Given the description of an element on the screen output the (x, y) to click on. 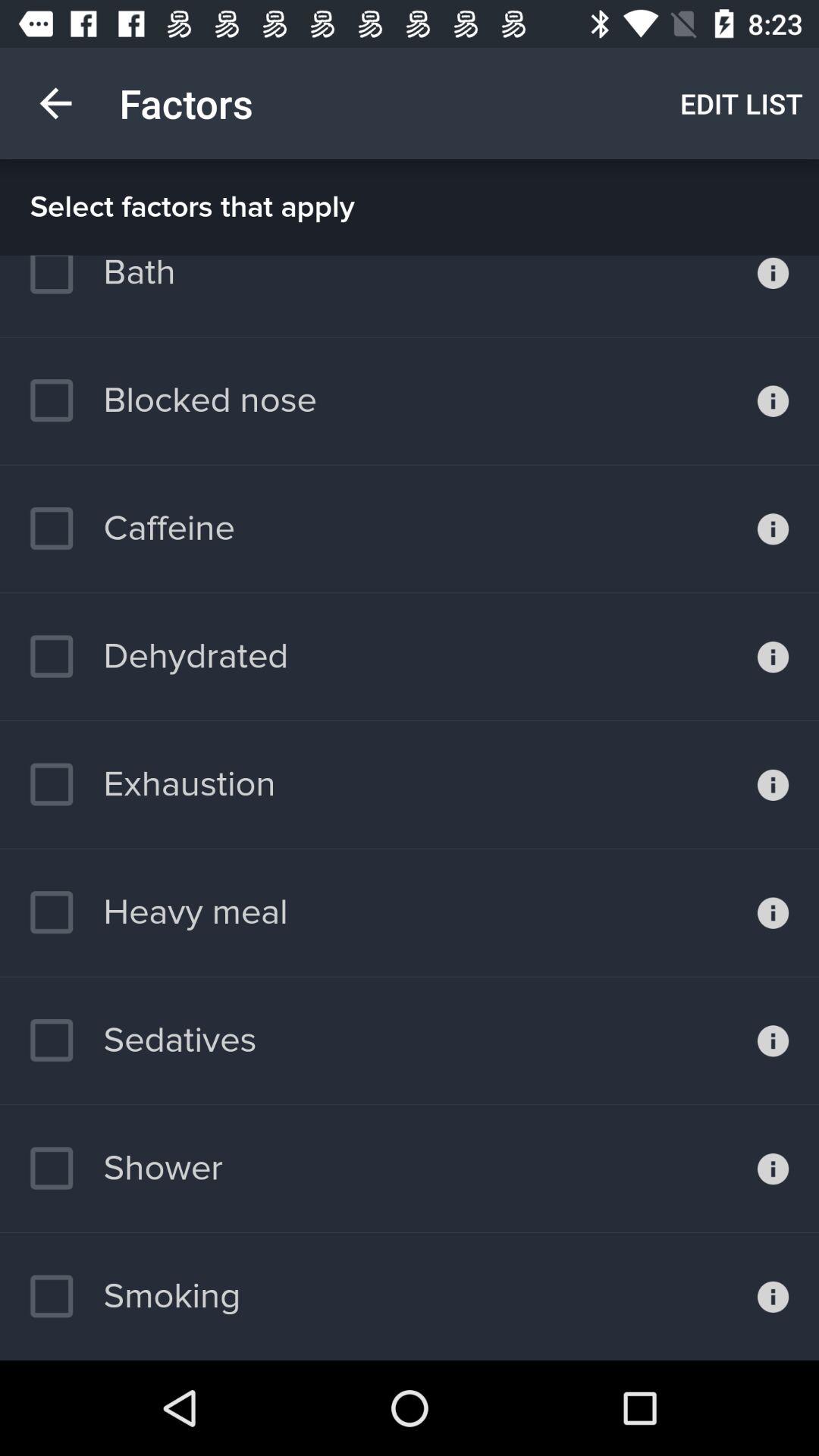
turn off the item next to factors item (741, 103)
